Given the description of an element on the screen output the (x, y) to click on. 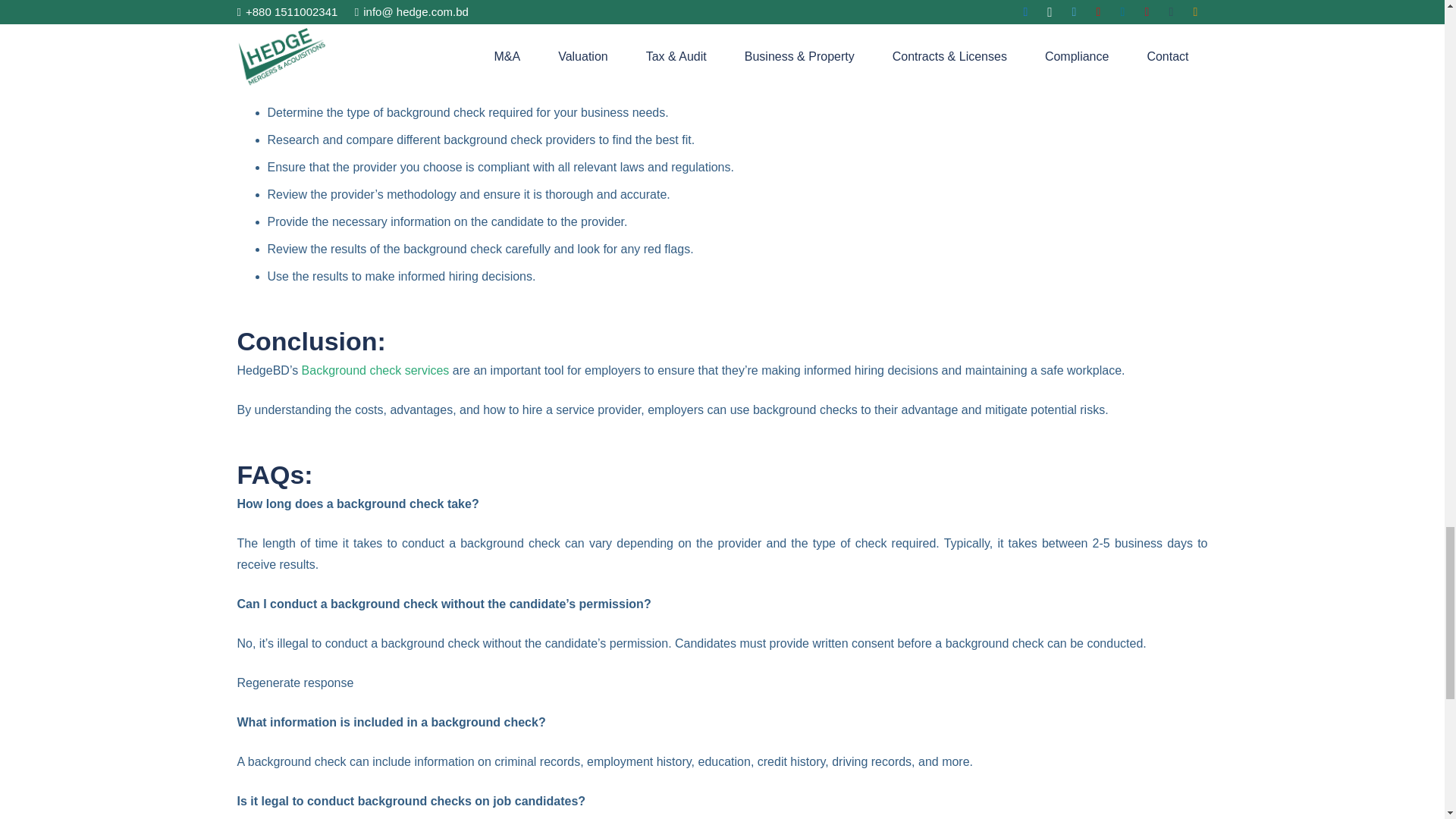
Background Check Services In Dhaka, Bangladesh (375, 369)
